Given the description of an element on the screen output the (x, y) to click on. 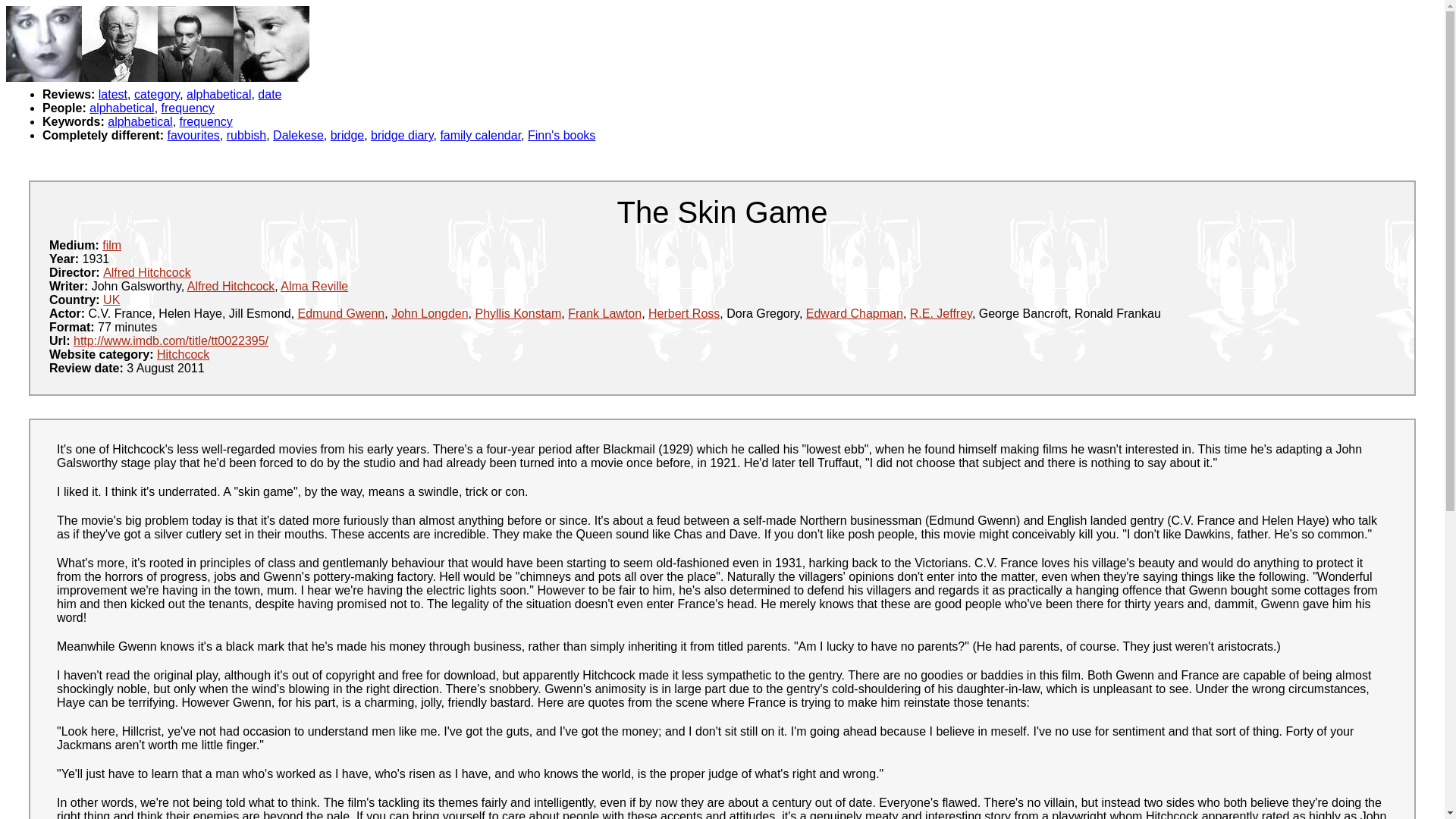
Alma Reville (314, 286)
John Longden (429, 313)
UK (111, 299)
Edmund Gwenn (341, 313)
Phyllis Konstam (517, 313)
film (110, 245)
Alfred Hitchcock (146, 272)
Edward Chapman (854, 313)
Alfred Hitchcock (231, 286)
R.E. Jeffrey (941, 313)
Frank Lawton (604, 313)
Hitchcock (183, 354)
Herbert Ross (683, 313)
